Given the description of an element on the screen output the (x, y) to click on. 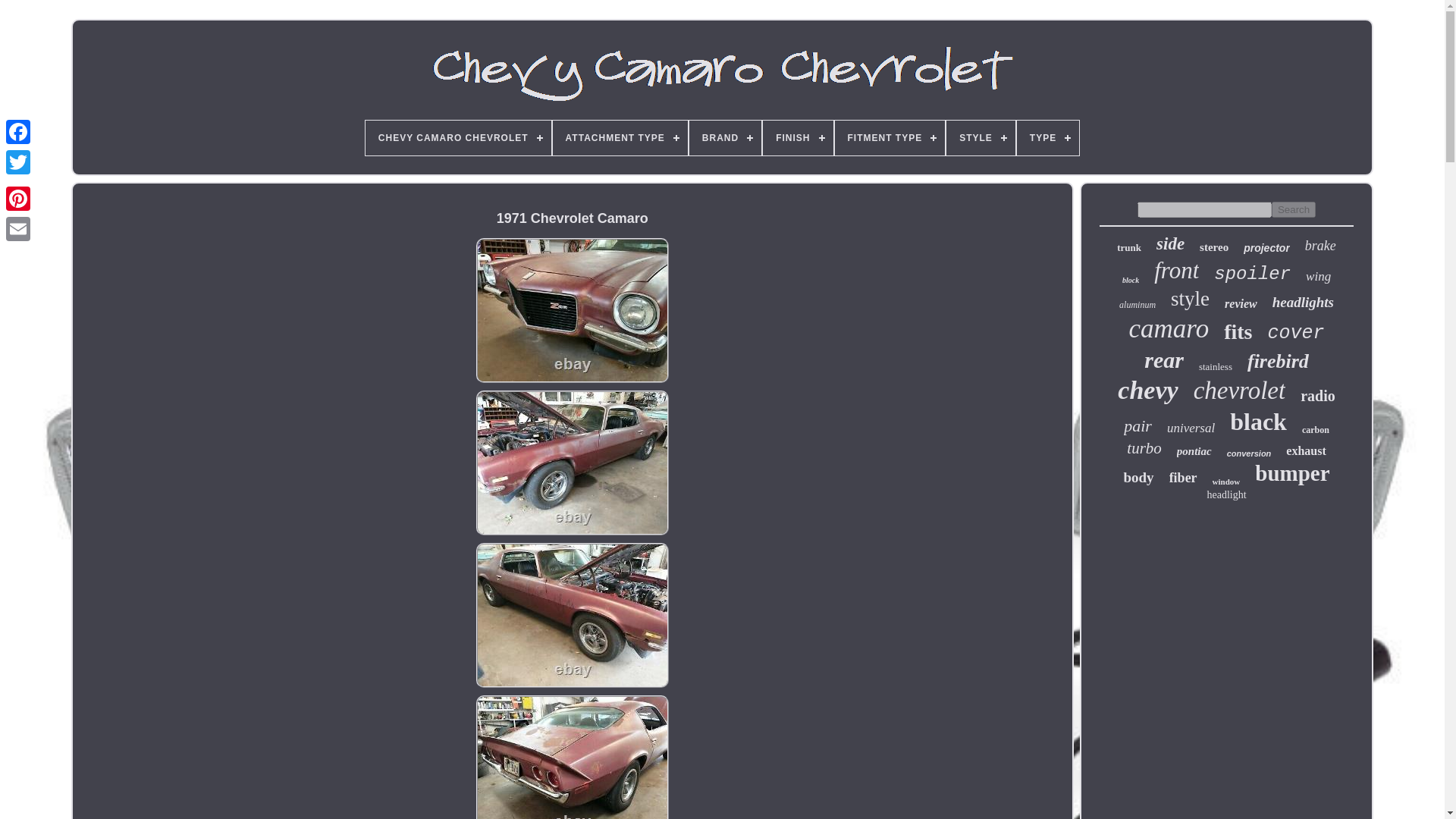
Search (1293, 209)
BRAND (724, 137)
ATTACHMENT TYPE (620, 137)
1971 Chevrolet Camaro (572, 757)
Email (17, 228)
1971 Chevrolet Camaro (572, 462)
CHEVY CAMARO CHEVROLET (458, 137)
1971 Chevrolet Camaro (572, 310)
1971 Chevrolet Camaro (572, 614)
